Given the description of an element on the screen output the (x, y) to click on. 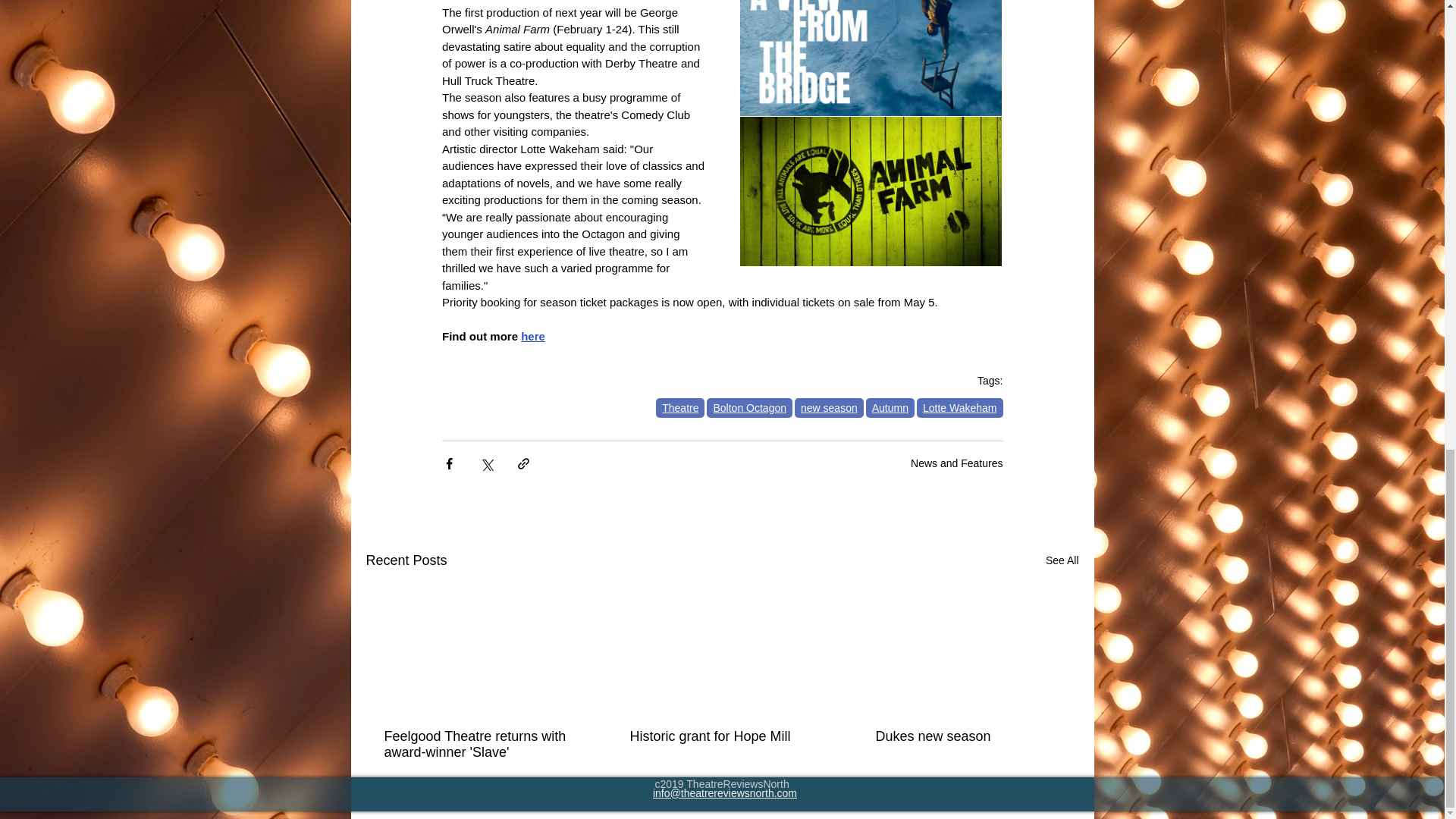
Theatre (680, 407)
Bolton Octagon (749, 407)
new season (828, 407)
here (532, 336)
